Given the description of an element on the screen output the (x, y) to click on. 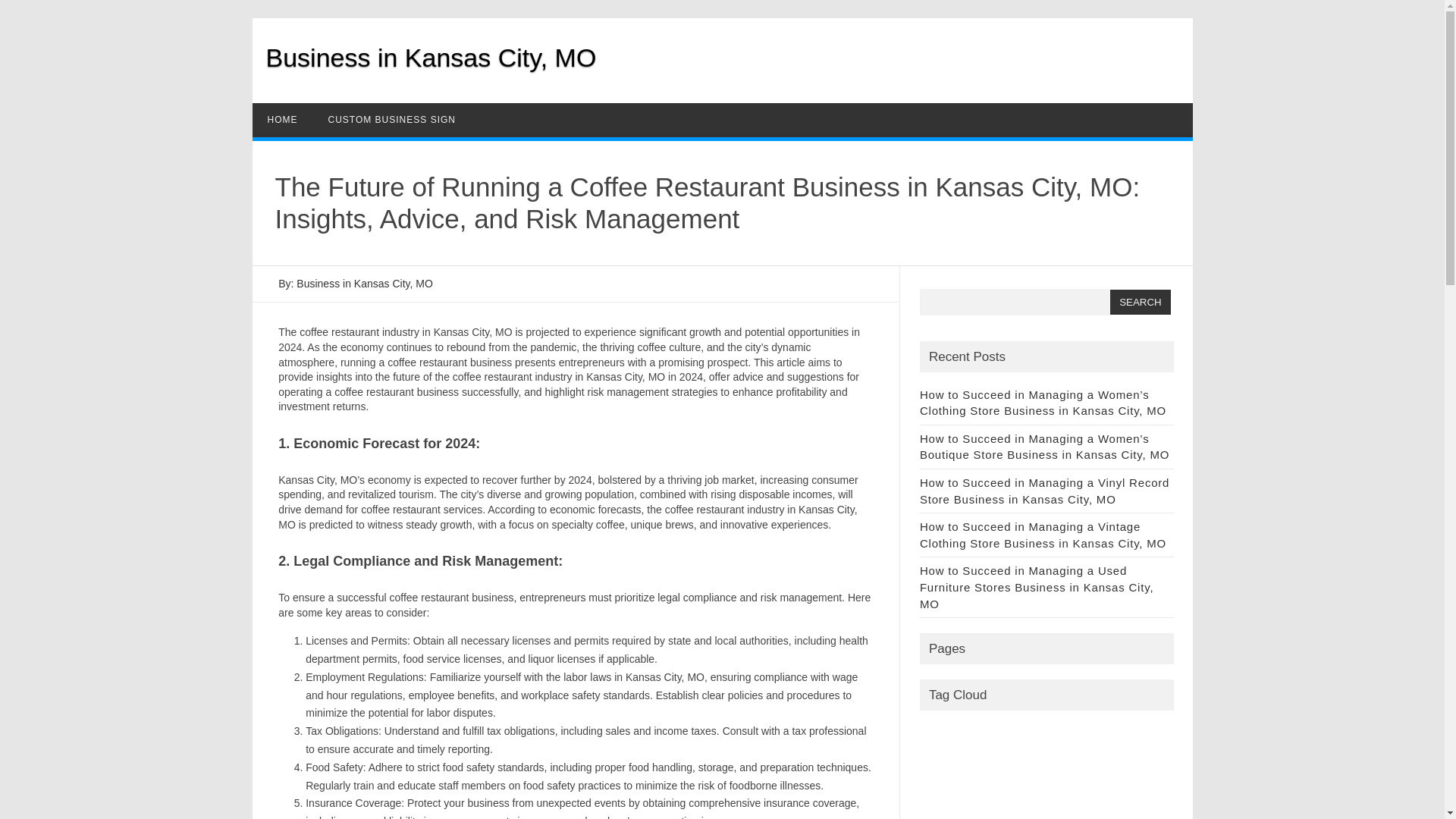
Business in Kansas City, MO (429, 57)
CUSTOM BUSINESS SIGN (391, 119)
Search (1139, 301)
Search (1139, 301)
Business in Kansas City, MO (429, 57)
HOME (282, 119)
